Given the description of an element on the screen output the (x, y) to click on. 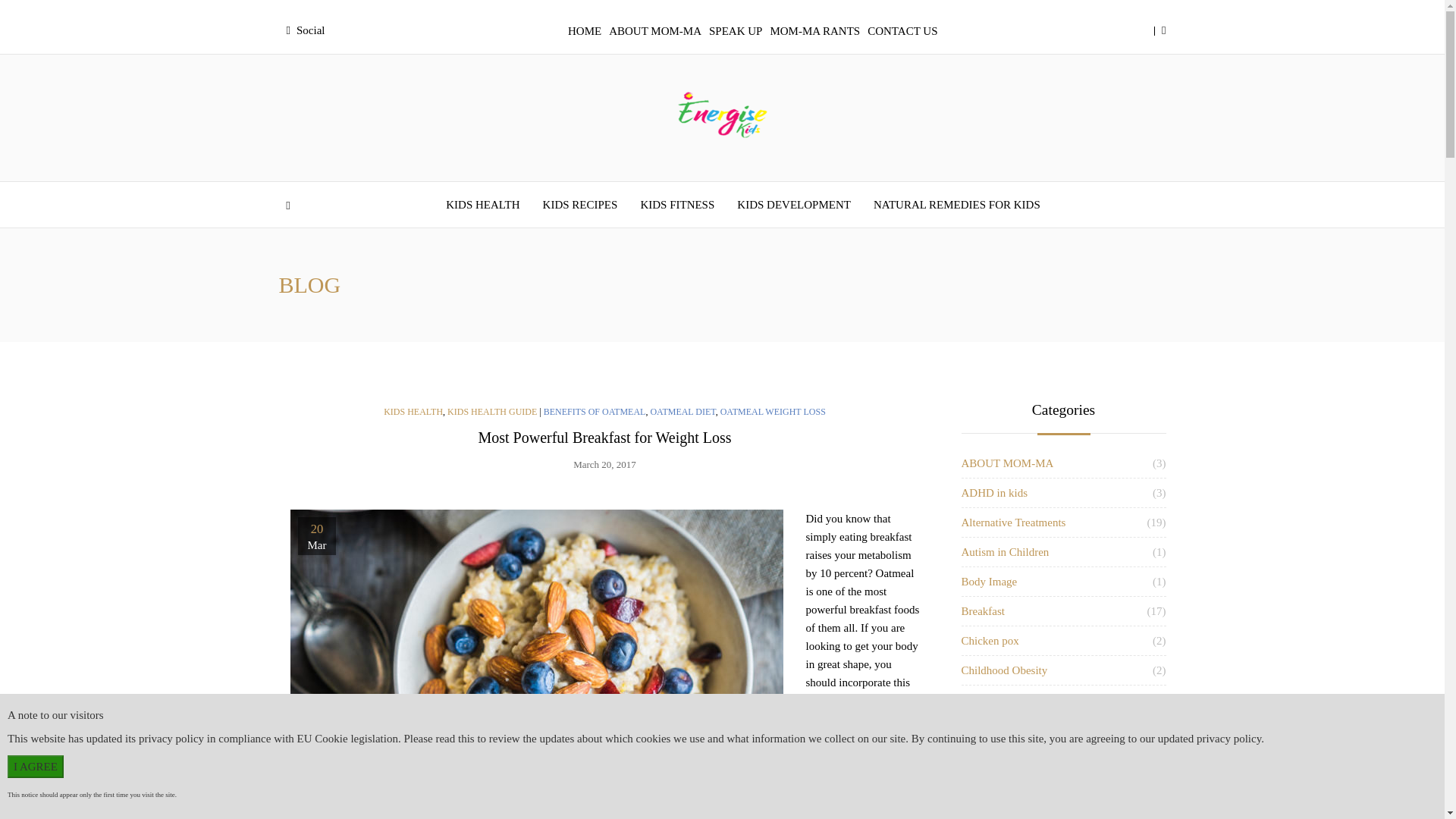
CONTACT US (901, 30)
KIDS HEALTH (482, 204)
I AGREE (35, 766)
KIDS RECIPES (579, 204)
Instagram (448, 691)
YouTube (475, 691)
SPEAK UP (734, 30)
March (315, 545)
ABOUT MOM-MA (654, 30)
Facebook (368, 691)
HOME (584, 30)
KIDS FITNESS (676, 204)
NATURAL REMEDIES FOR KIDS (956, 204)
MOM-MA RANTS (814, 30)
Twitter (395, 691)
